Given the description of an element on the screen output the (x, y) to click on. 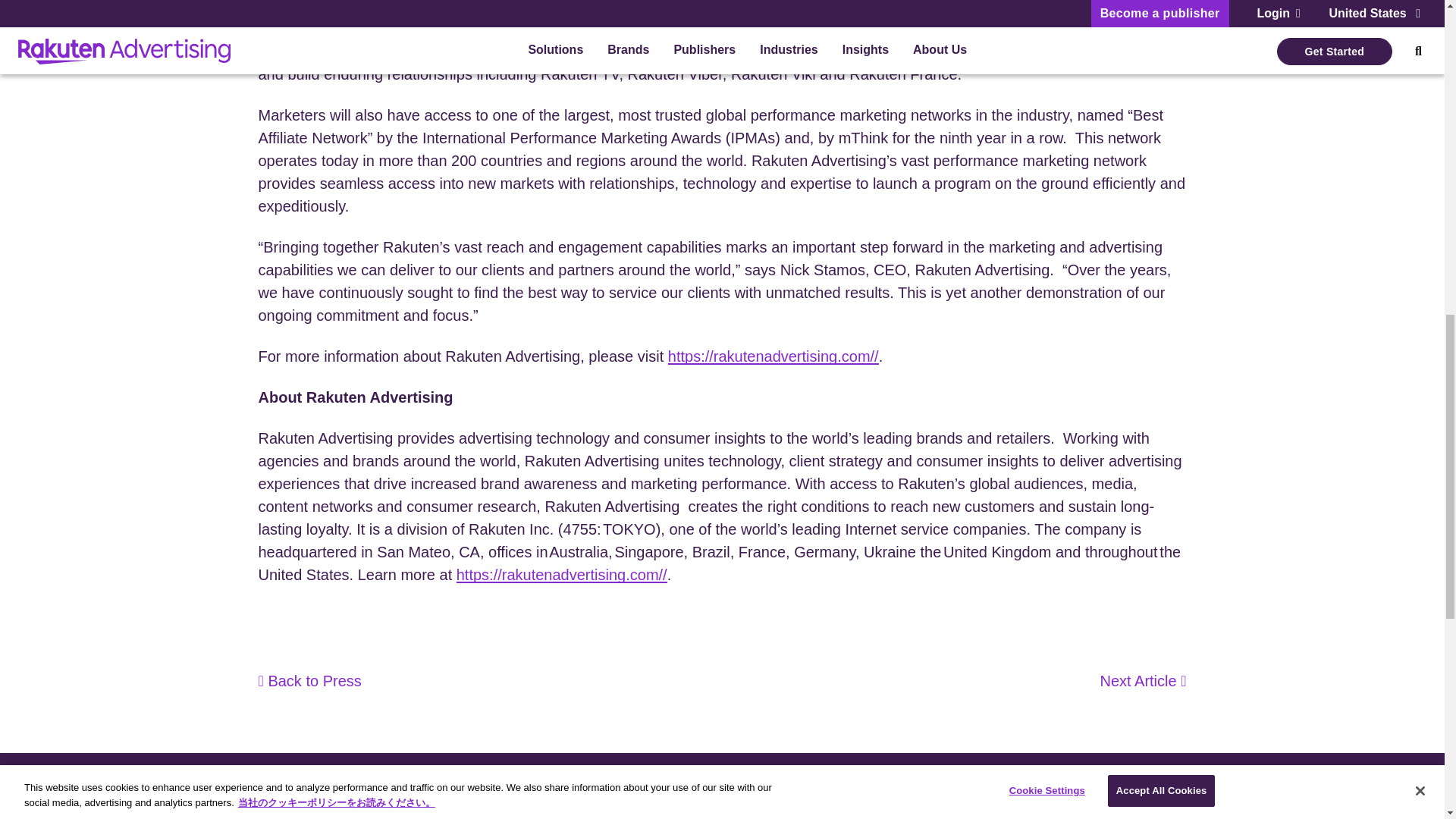
Back to Press (309, 680)
